Given the description of an element on the screen output the (x, y) to click on. 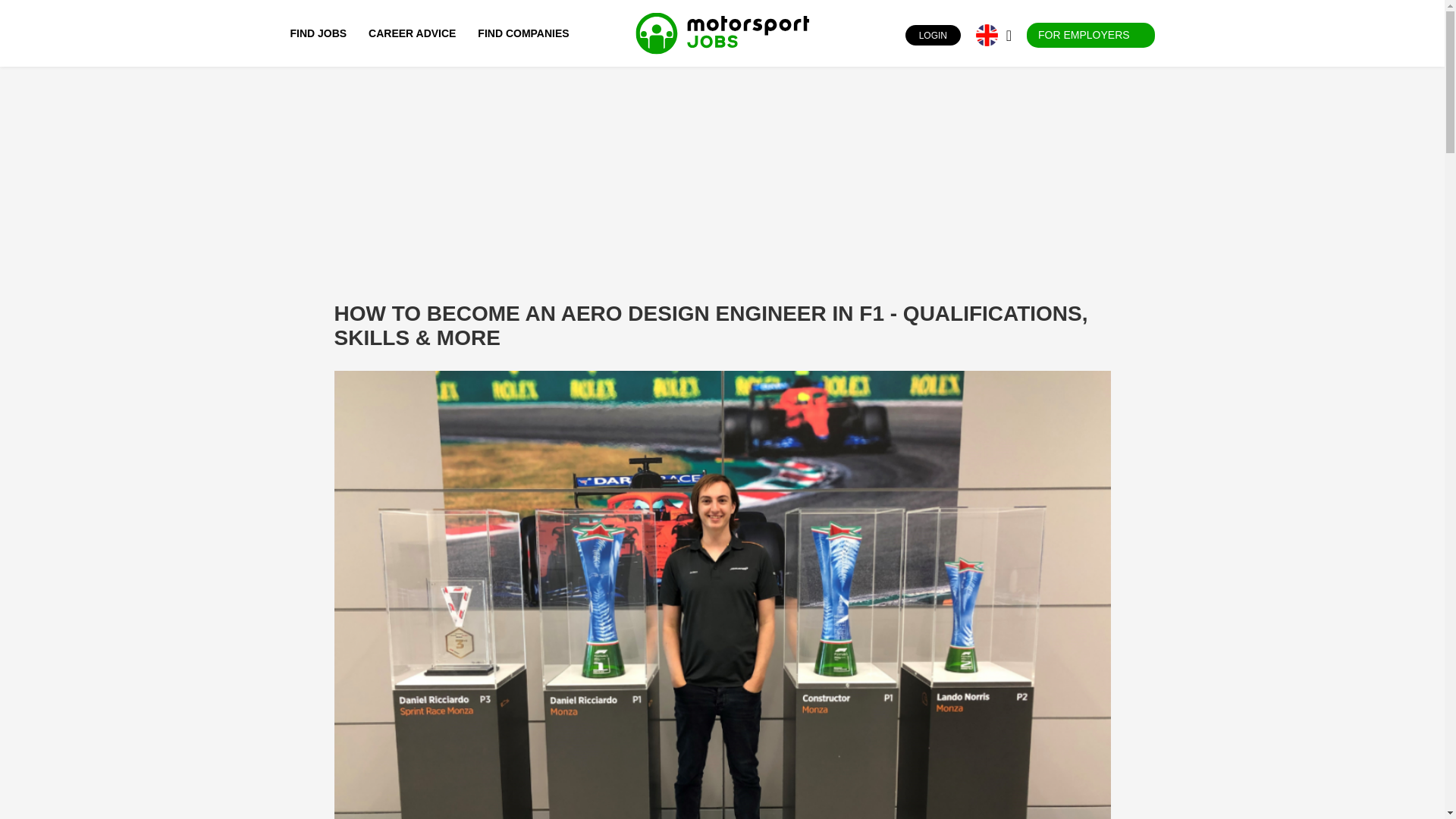
Change language (986, 34)
FIND JOBS (321, 32)
CAREER ADVICE (412, 32)
FIND COMPANIES (523, 32)
FOR EMPLOYERS (1090, 34)
Motorsportjobs.com (721, 33)
Login (891, 35)
